Given the description of an element on the screen output the (x, y) to click on. 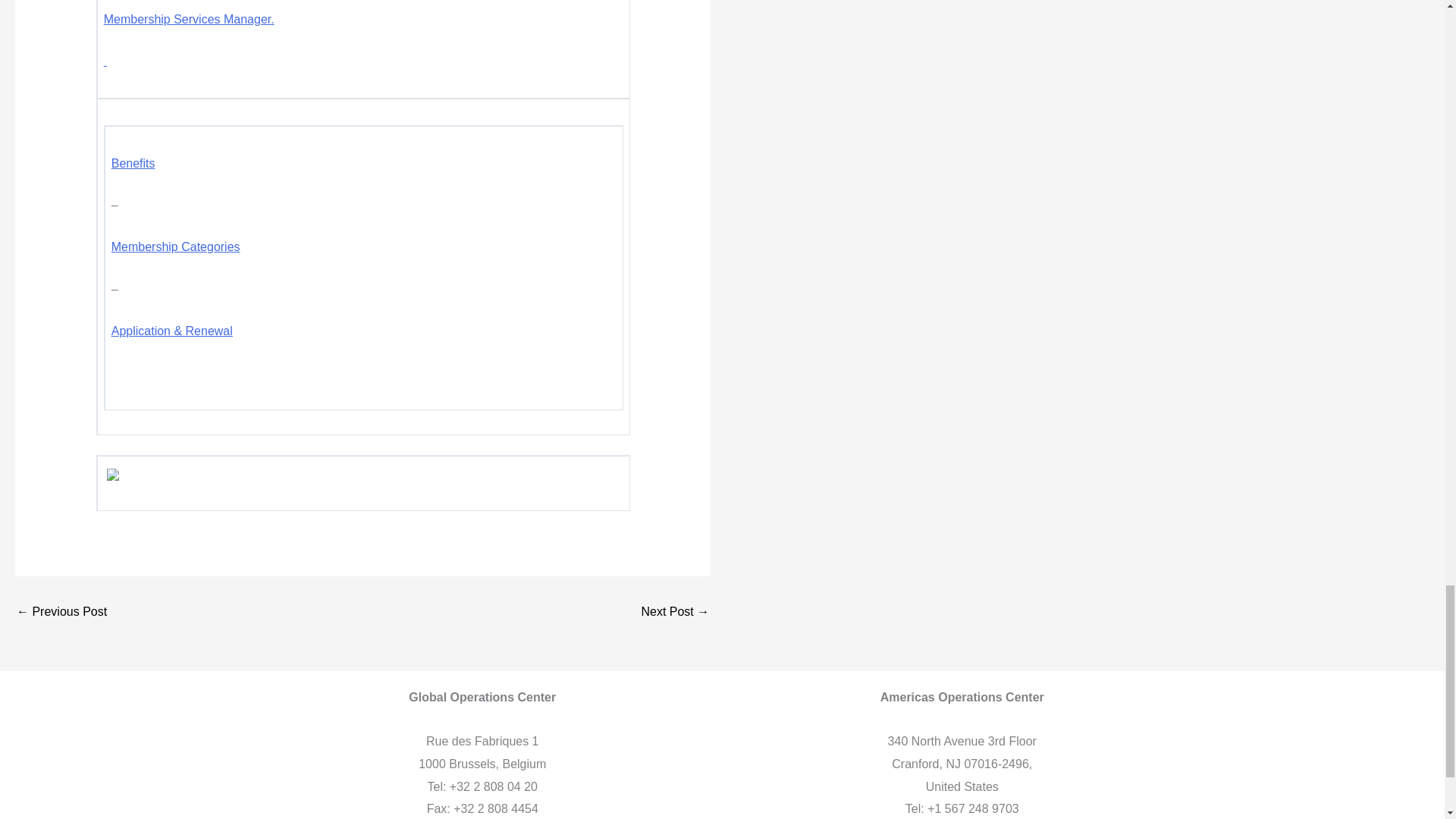
Welcome to ISN (61, 612)
Welcome to ISN (674, 612)
